Given the description of an element on the screen output the (x, y) to click on. 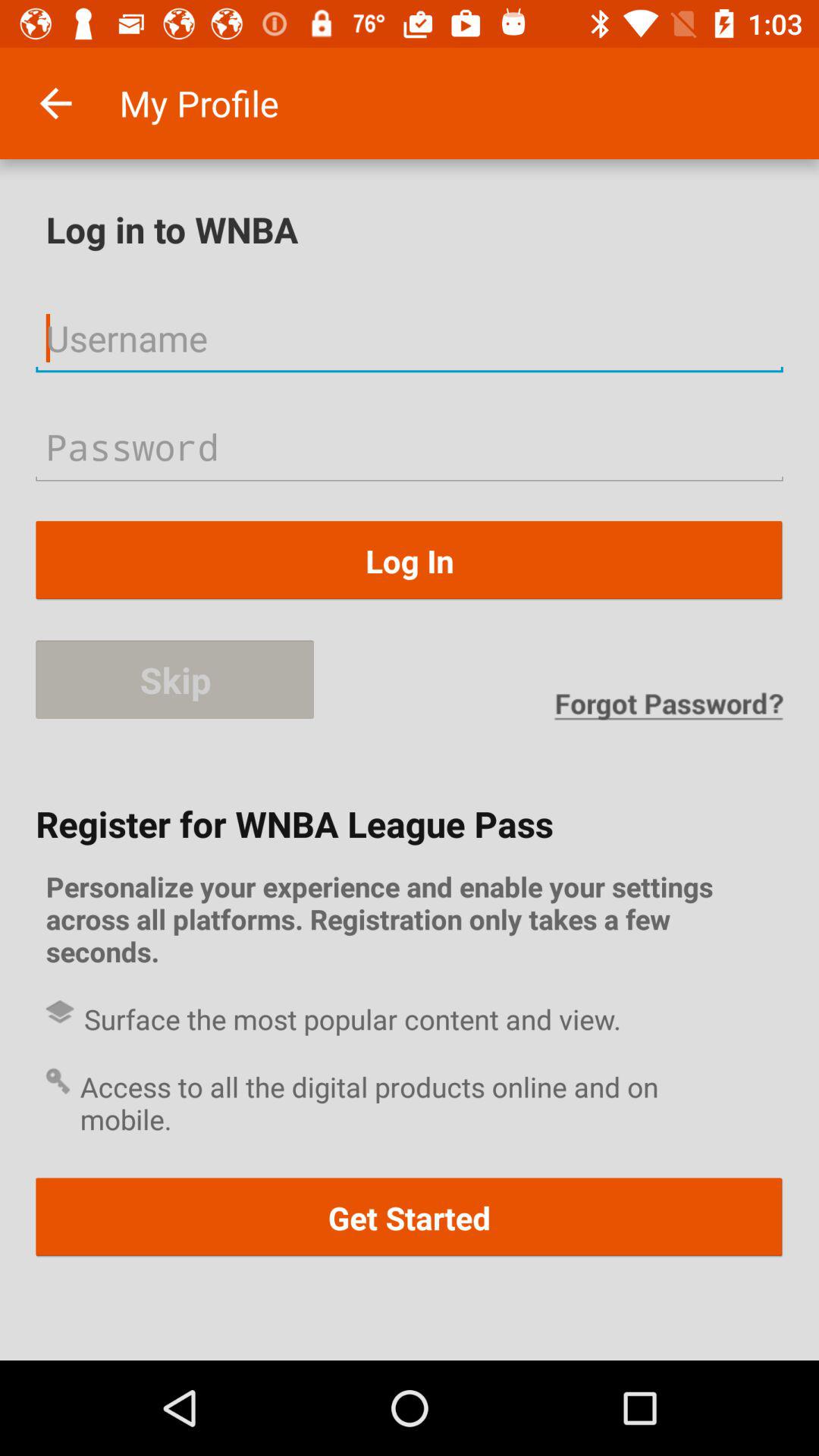
password reset (668, 706)
